Given the description of an element on the screen output the (x, y) to click on. 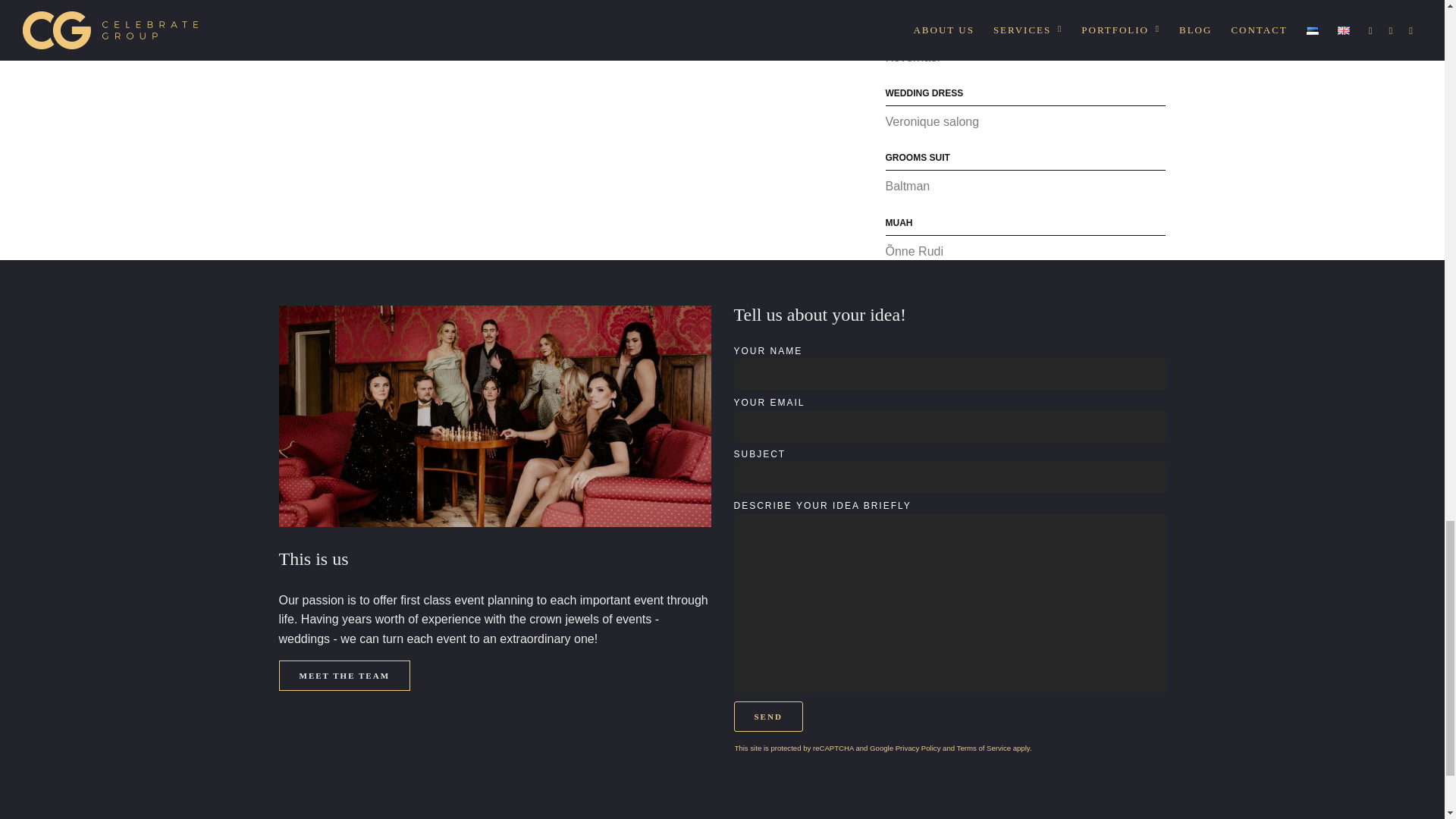
Send (768, 716)
MEET THE TEAM (344, 675)
Send (768, 716)
